Given the description of an element on the screen output the (x, y) to click on. 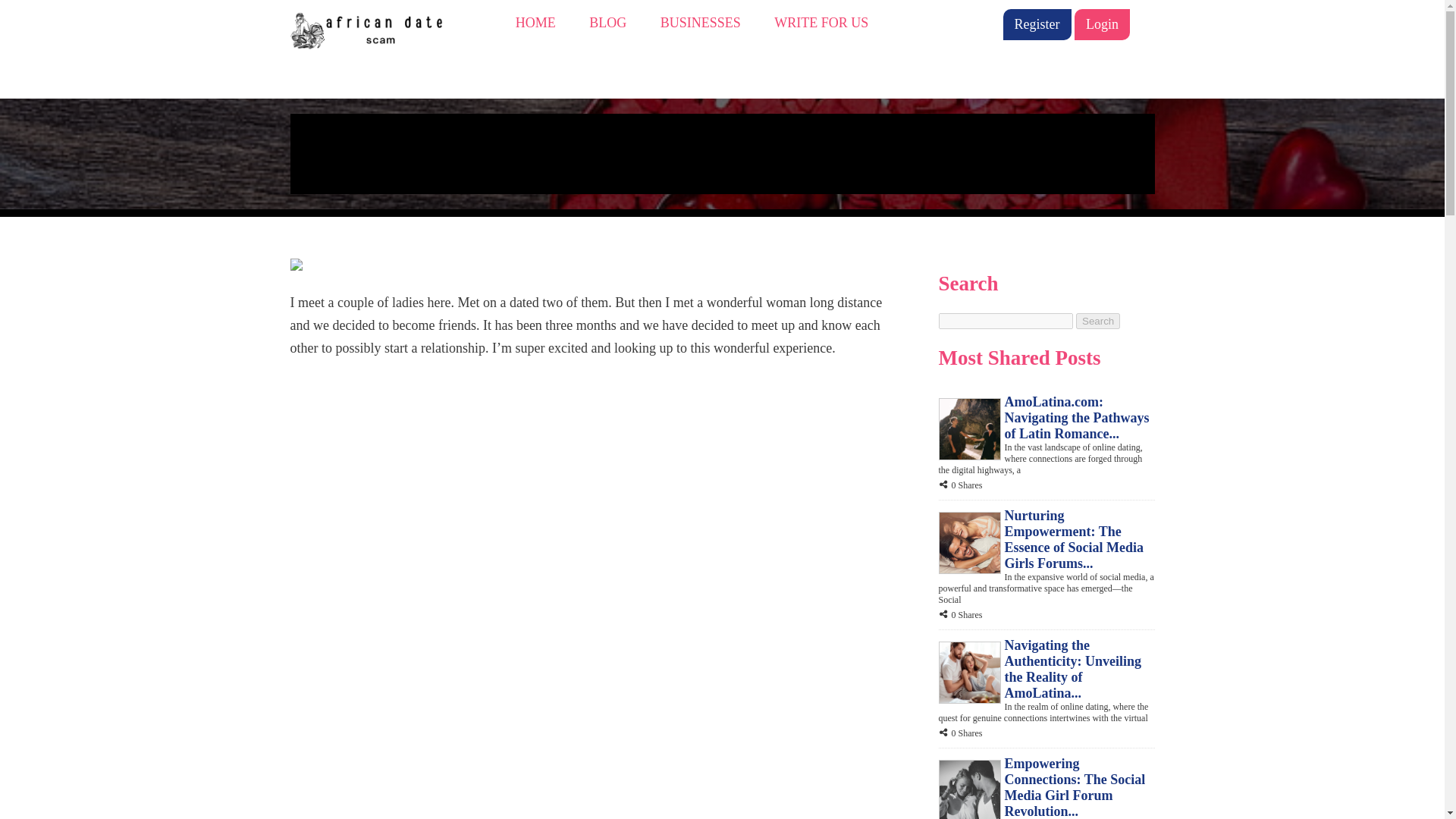
AmoLatina.com: Navigating the Pathways of Latin Romance... (1076, 417)
Search (1097, 320)
HOME (535, 22)
Search (1097, 320)
WRITE FOR US (820, 22)
Login (1101, 24)
BLOG (607, 22)
BUSINESSES (701, 22)
